Given the description of an element on the screen output the (x, y) to click on. 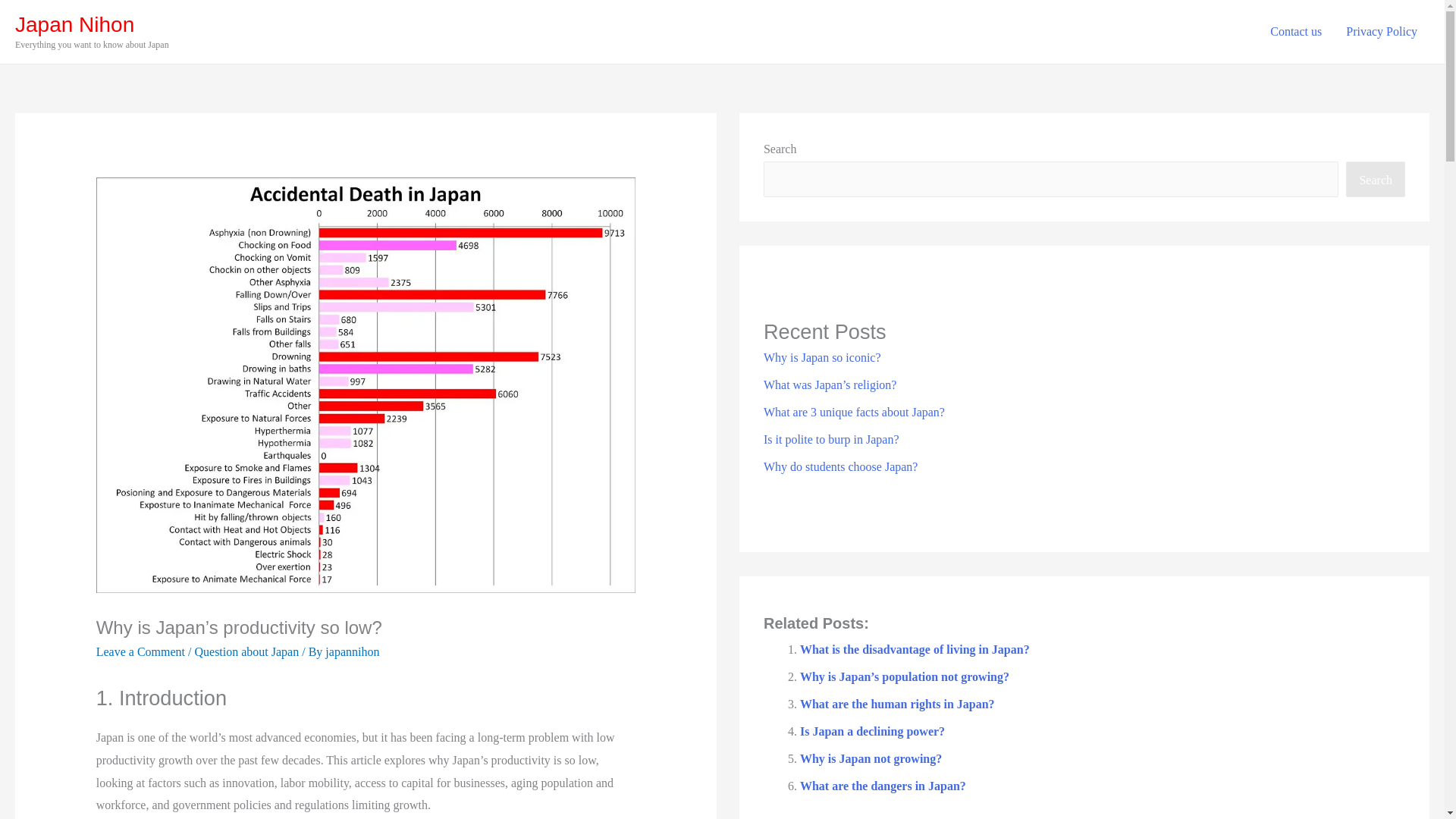
What are the dangers in Japan? (882, 785)
What is the disadvantage of living in Japan? (914, 649)
What are the human rights in Japan? (896, 703)
japannihon (351, 651)
Is it polite to burp in Japan? (830, 439)
Why is Japan so iconic? (821, 357)
Why is Japan not growing? (870, 758)
Search (1375, 179)
Leave a Comment (140, 651)
Privacy Policy (1381, 31)
Question about Japan (245, 651)
What are the human rights in Japan? (896, 703)
What is the disadvantage of living in Japan? (914, 649)
View all posts by japannihon (351, 651)
Contact us (1295, 31)
